Given the description of an element on the screen output the (x, y) to click on. 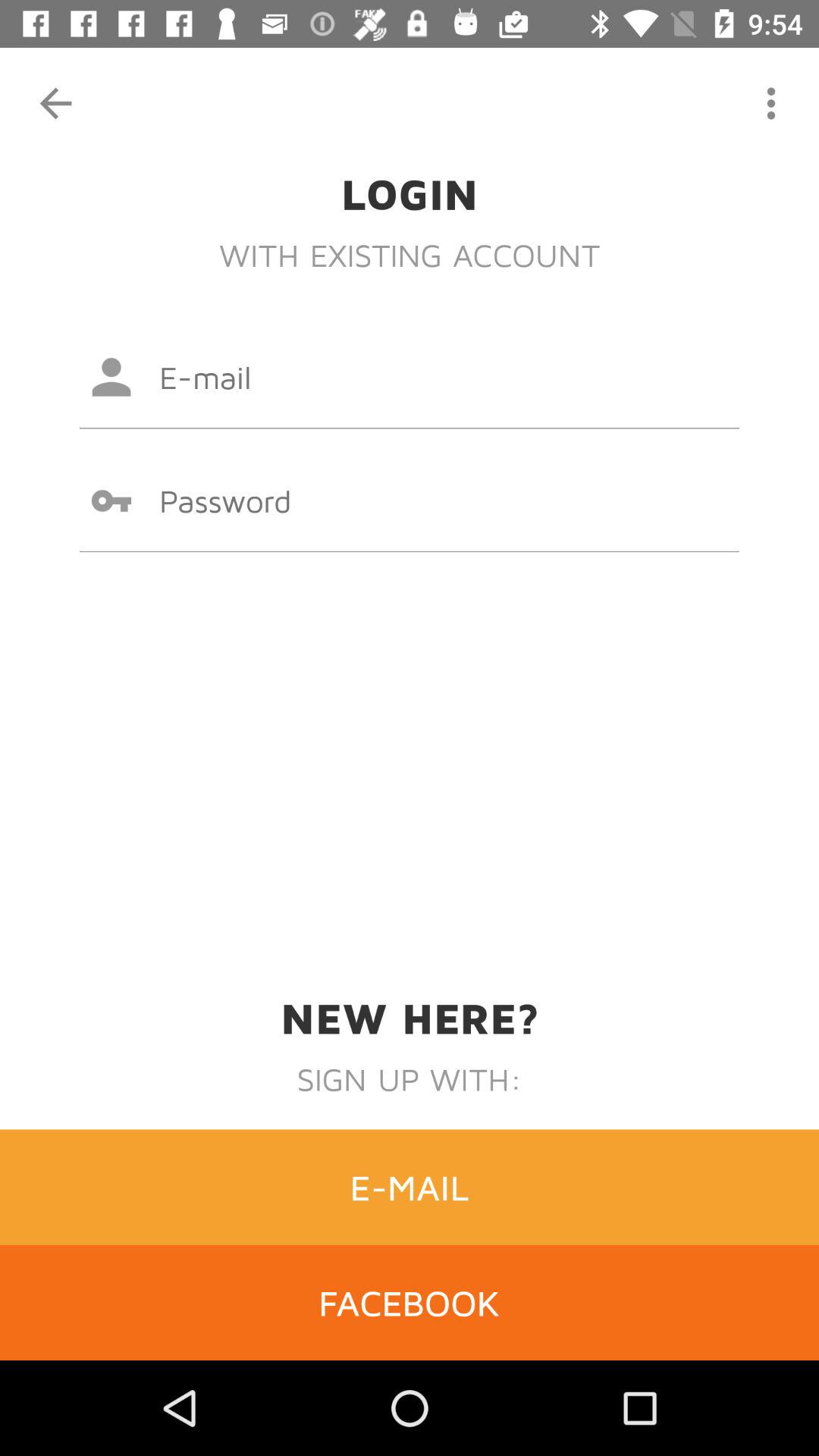
press the icon at the top right corner (771, 103)
